Given the description of an element on the screen output the (x, y) to click on. 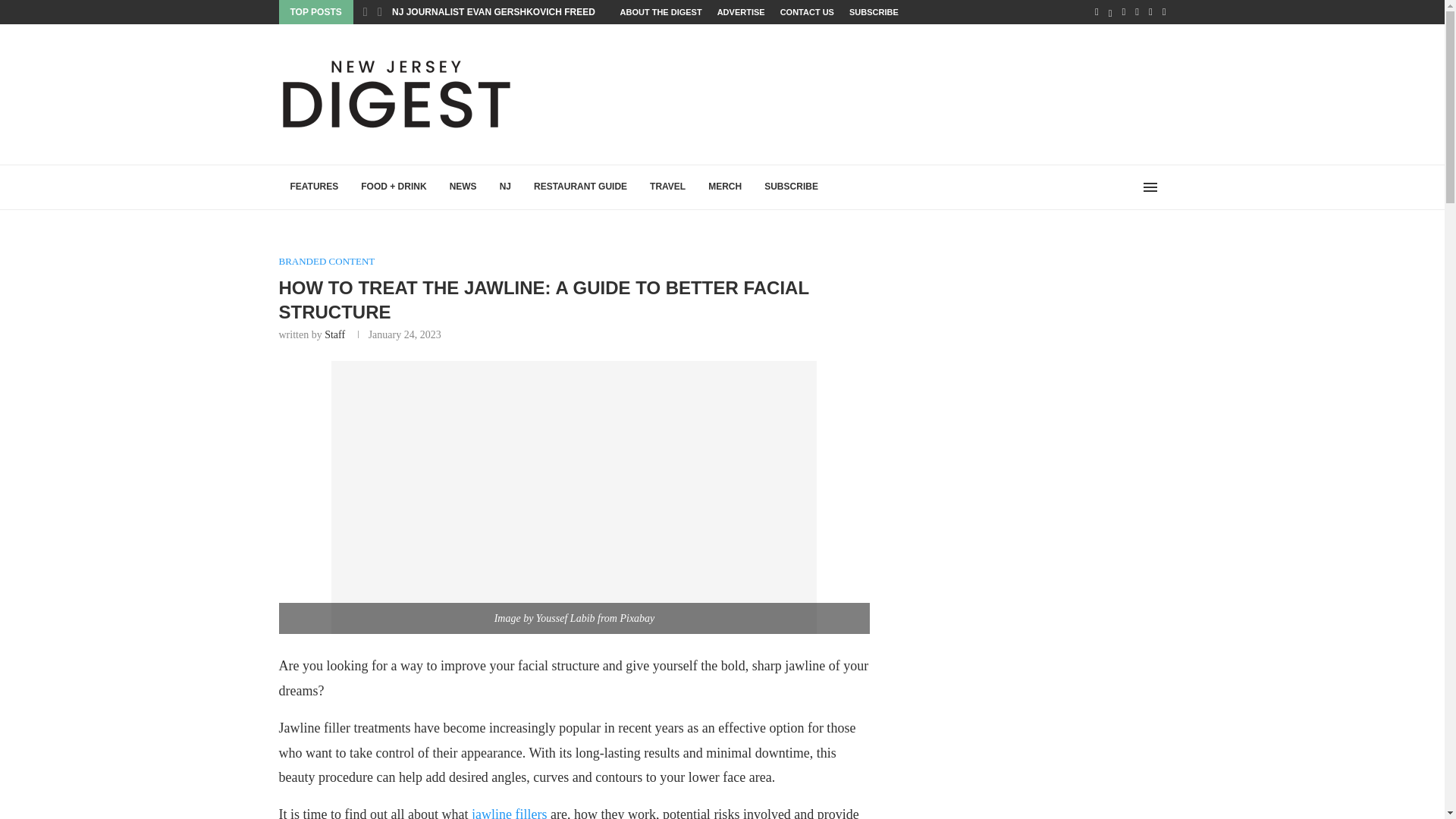
ABOUT THE DIGEST (660, 12)
NEWS (462, 186)
SUBSCRIBE (790, 186)
MERCH (724, 186)
Staff (334, 334)
SUBSCRIBE (873, 12)
BRANDED CONTENT (327, 261)
FEATURES (314, 186)
RESTAURANT GUIDE (580, 186)
ADVERTISE (741, 12)
